Given the description of an element on the screen output the (x, y) to click on. 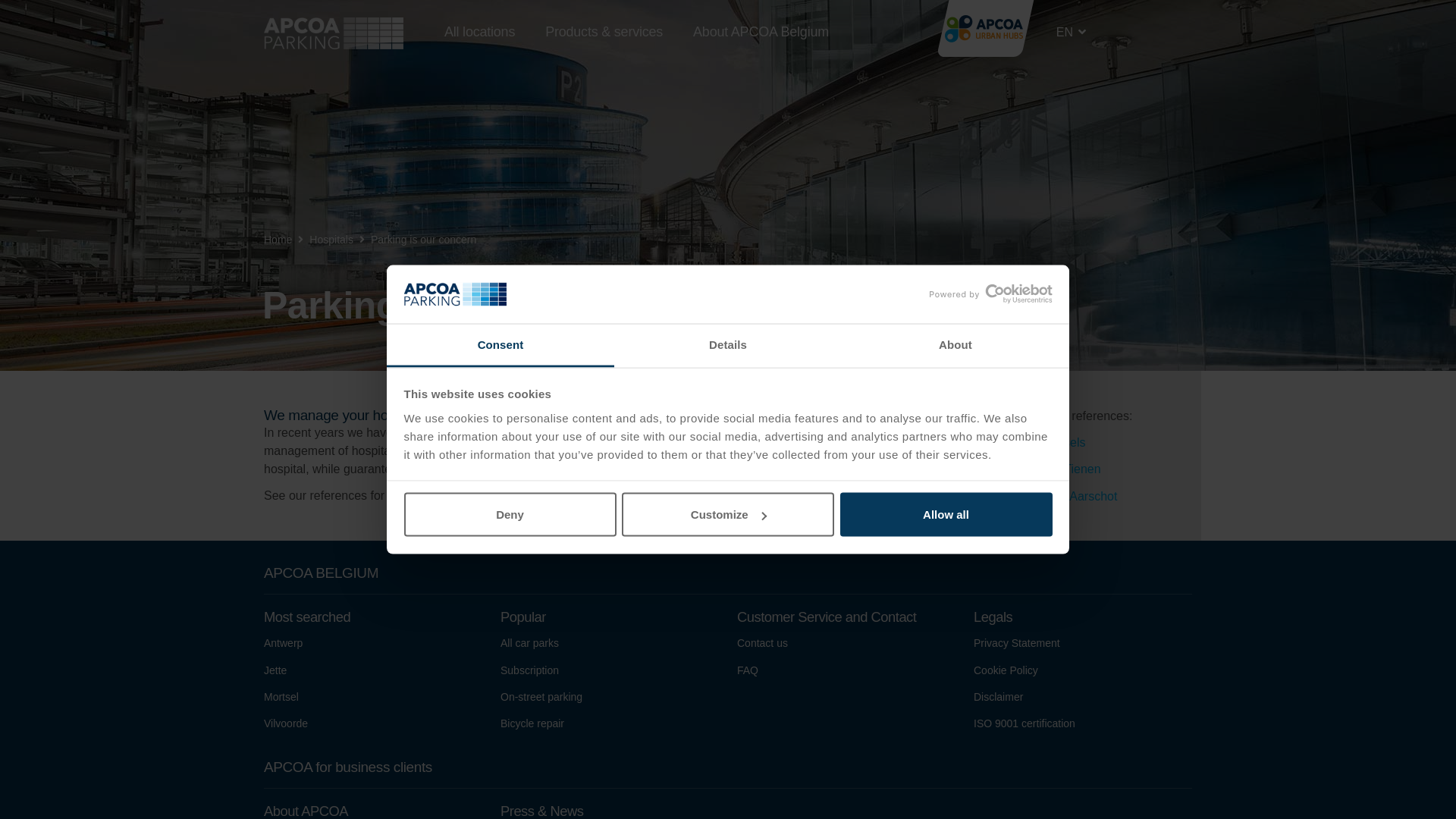
Cookie Policy Element type: text (1005, 670)
Details Element type: text (727, 345)
Home Element type: text (277, 239)
UZ Brussels Element type: text (1052, 442)
EN Element type: text (1070, 31)
ISO 9001 certification Element type: text (1024, 723)
FAQ Element type: text (747, 670)
Products & services Element type: text (603, 32)
About Element type: text (955, 345)
Bicycle repair Element type: text (532, 723)
Vilvoorde Element type: text (285, 723)
Antwerp Element type: text (282, 643)
Contact us Element type: text (762, 643)
Mortsel Element type: text (280, 696)
Urban Hubs Element type: hover (986, 27)
Jette Element type: text (274, 670)
Disclaimer Element type: text (997, 696)
Privacy Statement Element type: text (1016, 643)
Hospitals Element type: text (331, 239)
All locations Element type: text (479, 32)
Heilig Hart Tienen Element type: text (1052, 468)
About APCOA Belgium Element type: text (760, 32)
Allow all Element type: text (946, 514)
APCOA Parking Element type: hover (333, 33)
Deny Element type: text (509, 514)
Customize Element type: text (727, 514)
On-street parking Element type: text (541, 696)
Subscription Element type: text (529, 670)
All car parks Element type: text (529, 643)
Medical center Aarschot Element type: text (1052, 495)
Parking is our concern Element type: text (423, 239)
Consent Element type: text (500, 345)
